Given the description of an element on the screen output the (x, y) to click on. 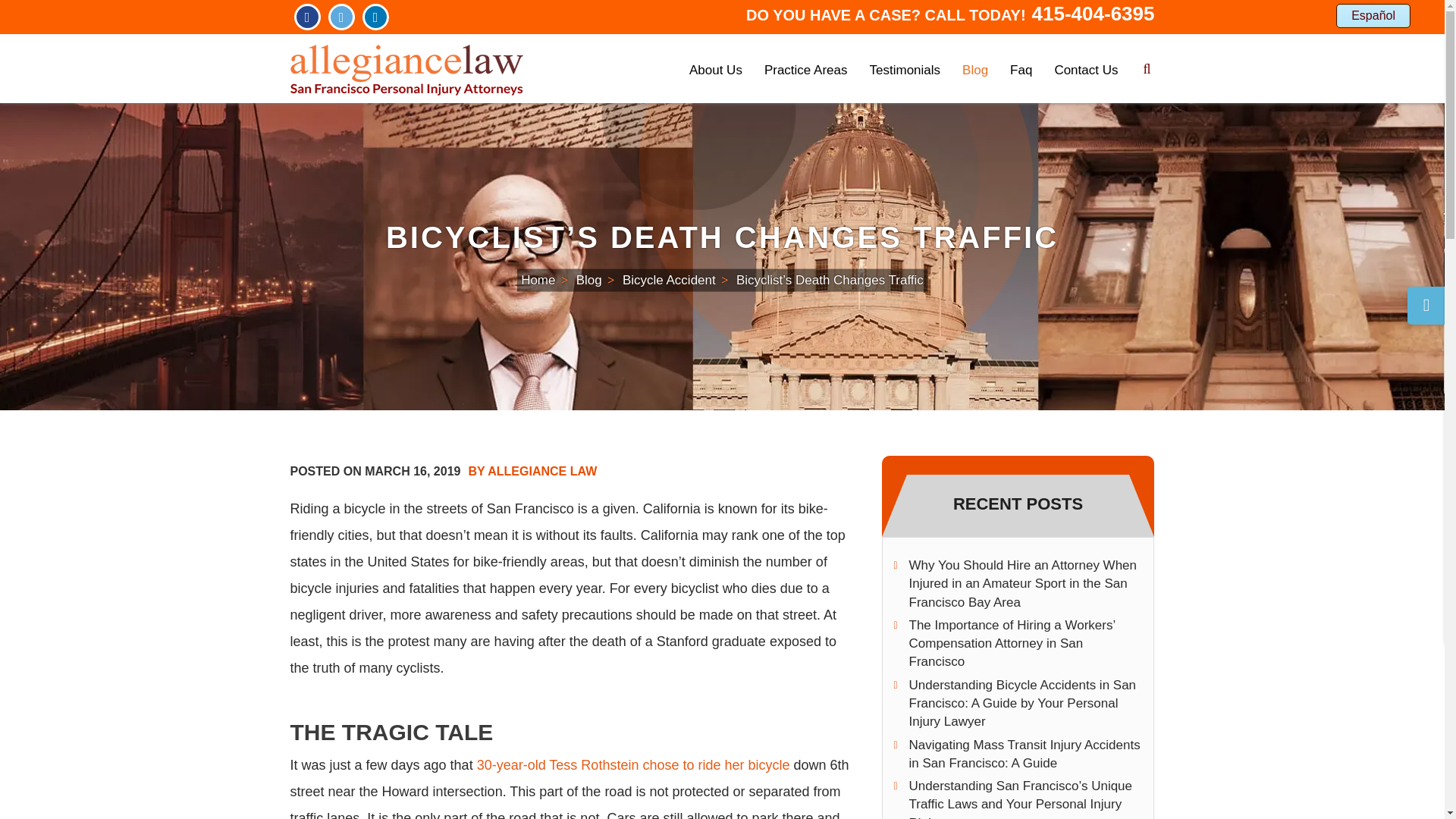
facebook (307, 17)
About us (715, 71)
Allegiancelaw Our Loyalty Is To Our Clients (405, 69)
Practice Areas (805, 71)
415-404-6395 (1093, 13)
GMB (340, 17)
415-404-6395 (1093, 13)
About Us (715, 71)
Practice Areas (805, 71)
linkedin (375, 17)
